Given the description of an element on the screen output the (x, y) to click on. 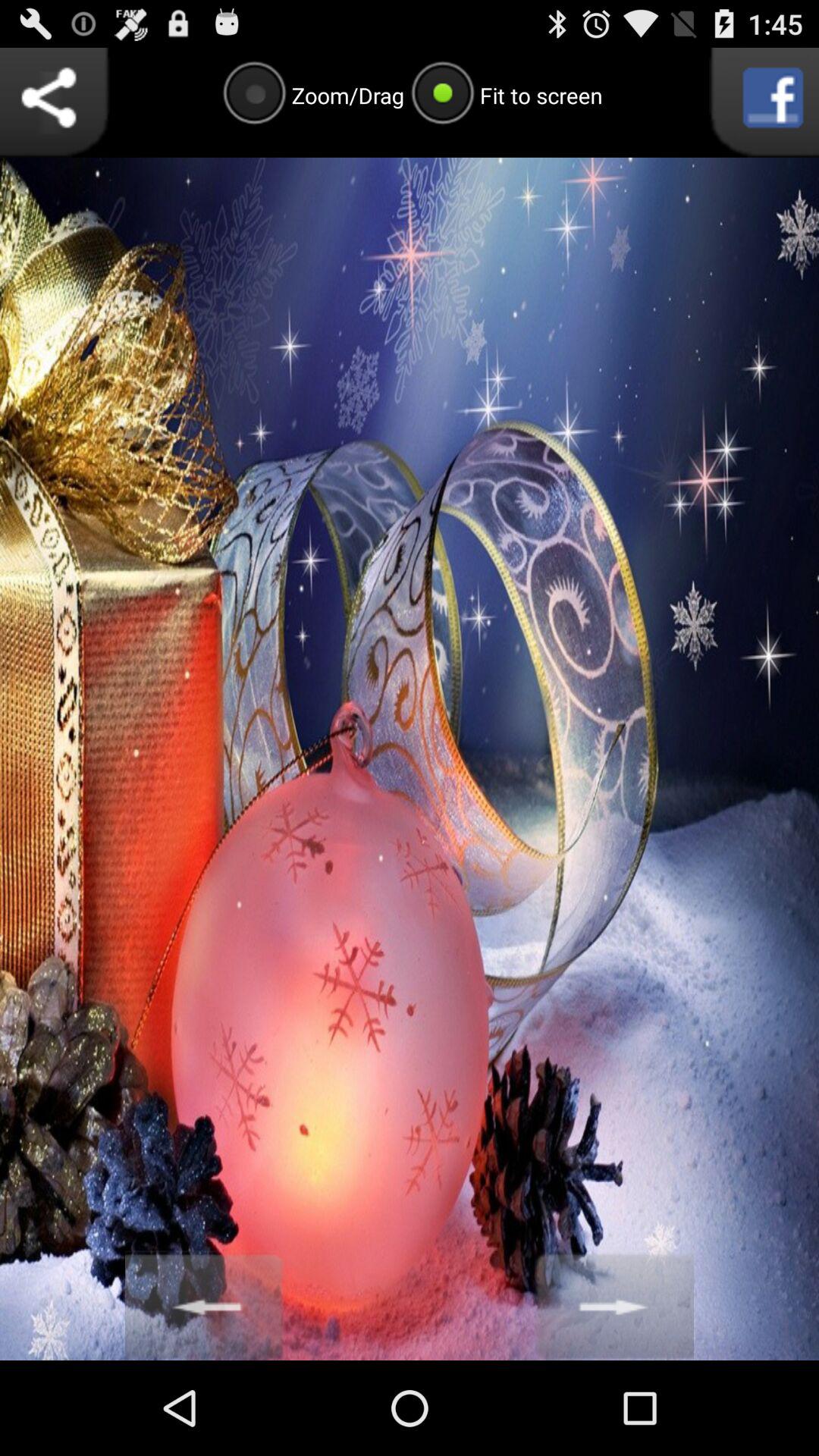
share the picture (54, 102)
